Given the description of an element on the screen output the (x, y) to click on. 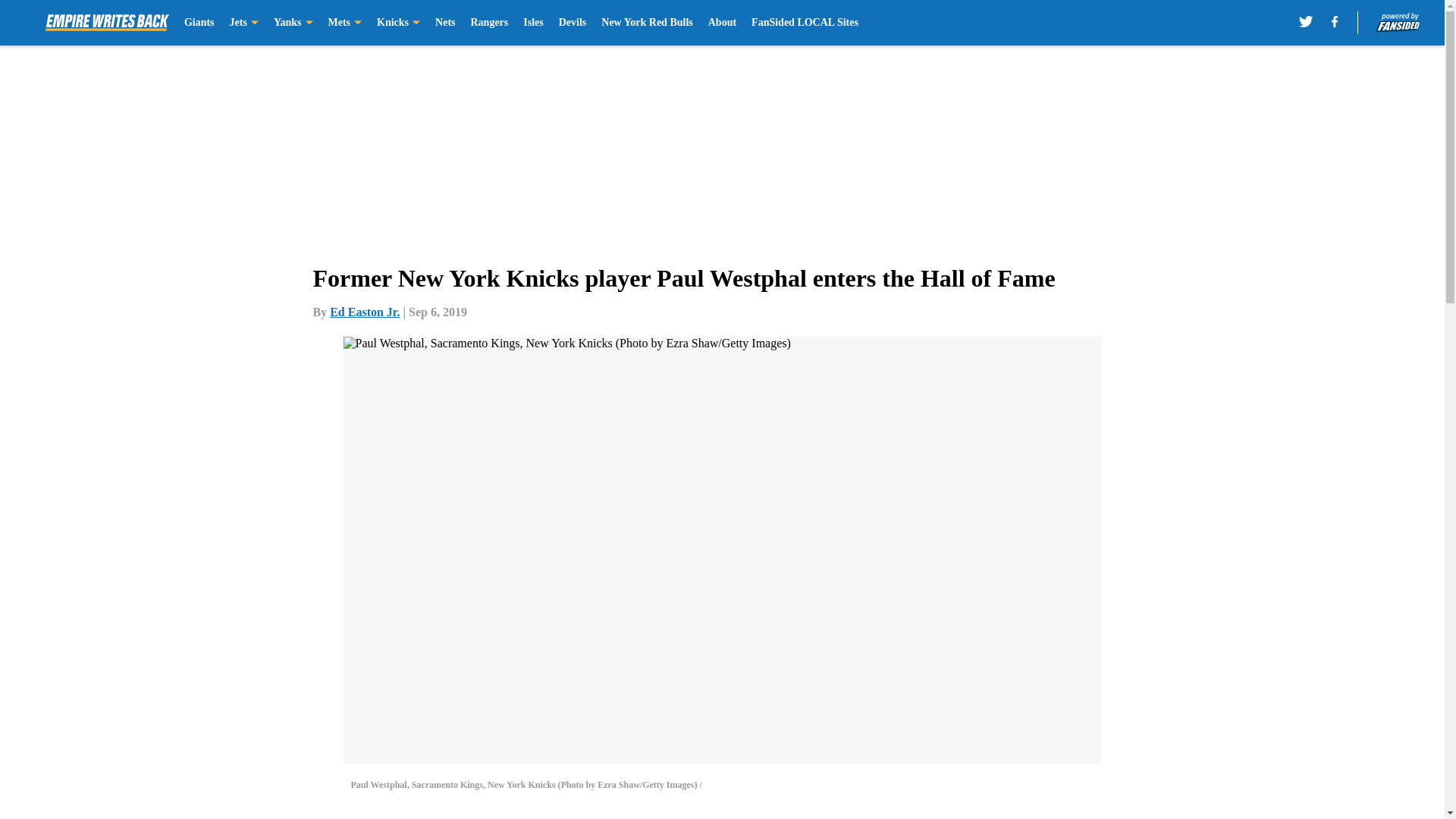
Rangers (489, 22)
Giants (199, 22)
Isles (532, 22)
New York Red Bulls (647, 22)
About (721, 22)
FanSided LOCAL Sites (805, 22)
Ed Easton Jr. (364, 311)
Devils (572, 22)
Nets (444, 22)
